Given the description of an element on the screen output the (x, y) to click on. 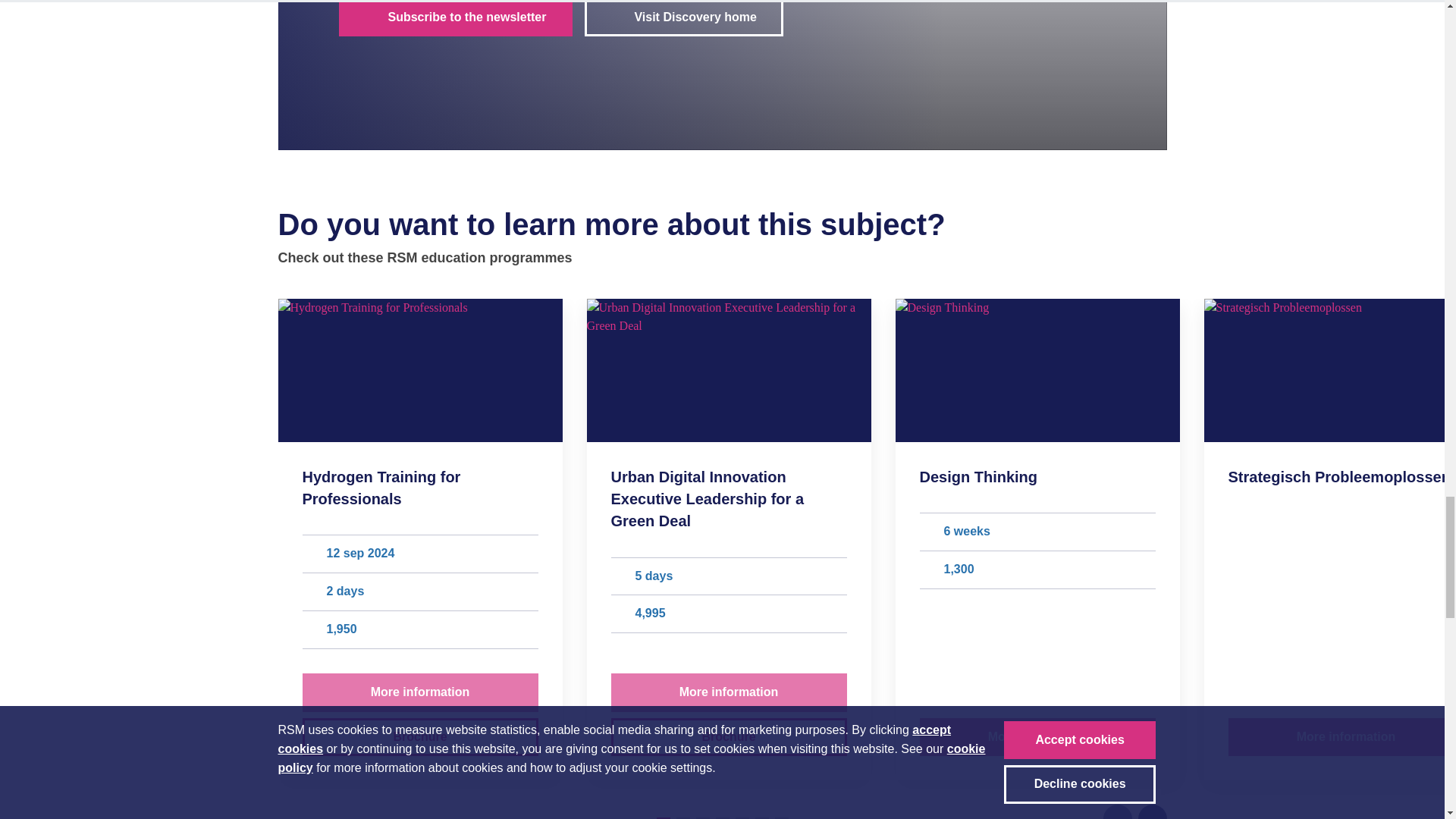
Woman in front of buildings (420, 370)
